Given the description of an element on the screen output the (x, y) to click on. 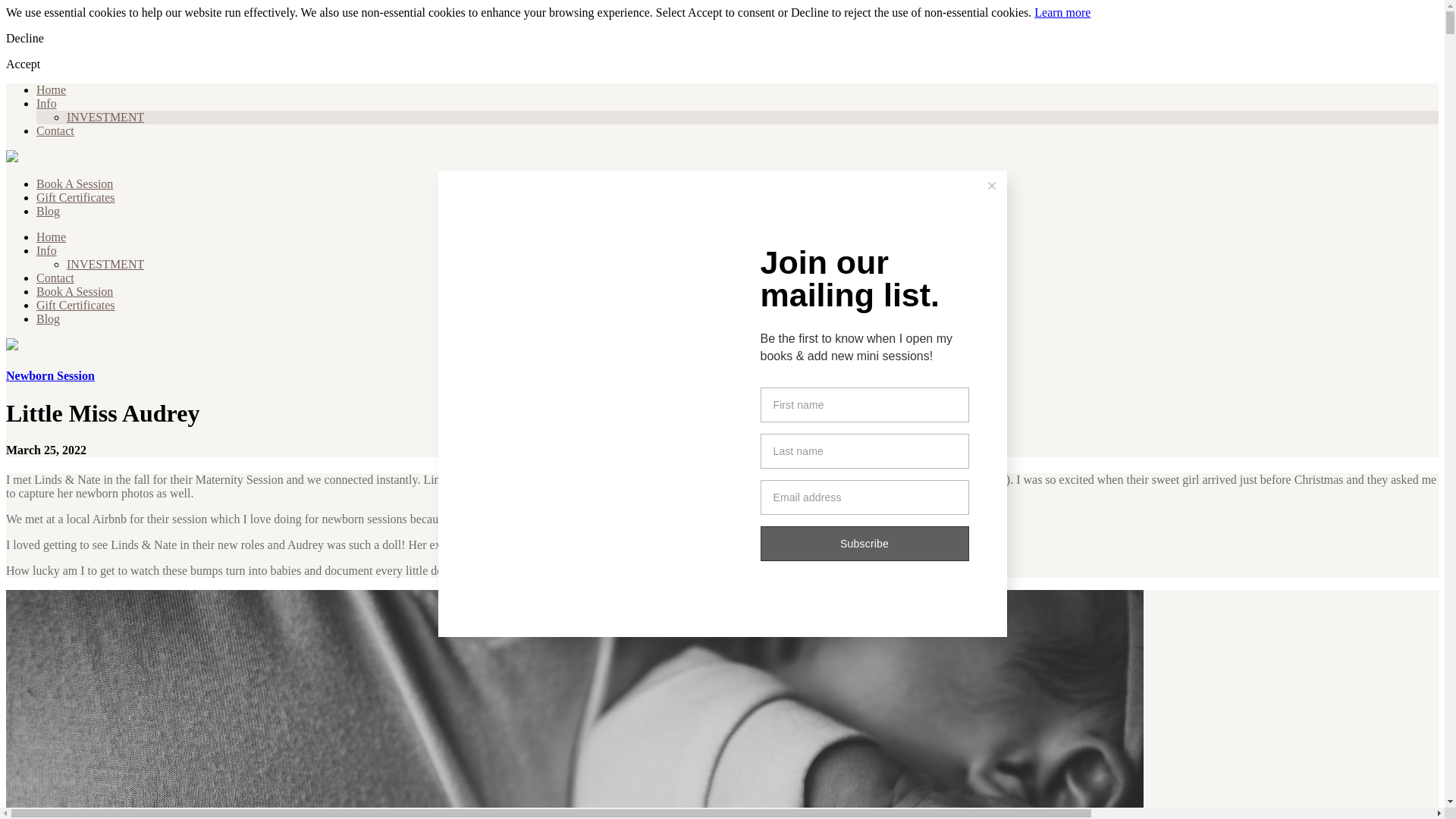
Home (50, 236)
Blog (47, 210)
Info (46, 103)
INVESTMENT (105, 116)
INVESTMENT (105, 264)
Book A Session (74, 291)
Blog (47, 318)
Contact (55, 277)
Gift Certificates (75, 305)
Learn more (1061, 11)
Gift Certificates (75, 196)
Book A Session (74, 183)
Home (50, 89)
